Given the description of an element on the screen output the (x, y) to click on. 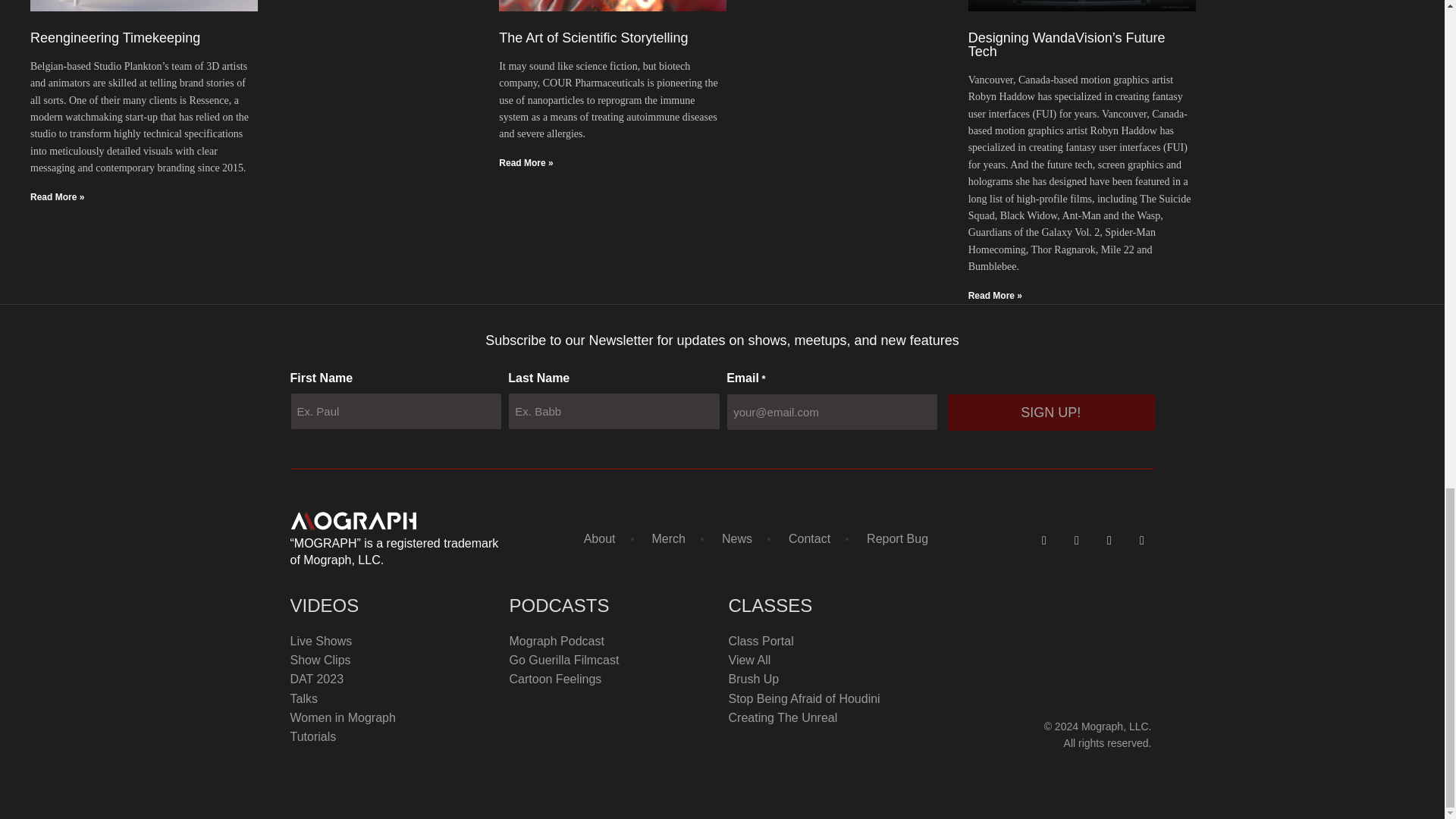
Sign Up! (1050, 411)
Reengineering Timekeeping (115, 37)
